Given the description of an element on the screen output the (x, y) to click on. 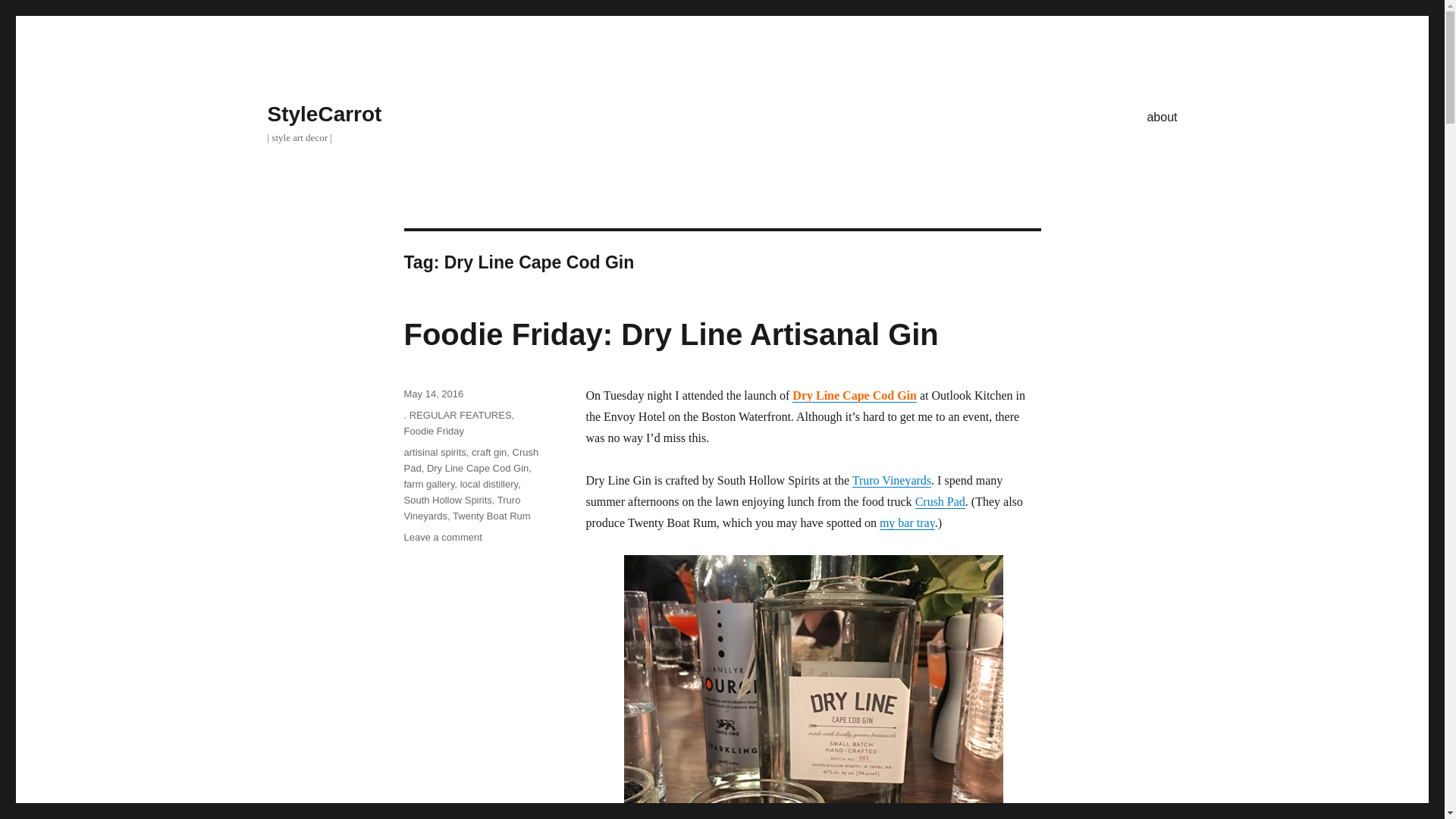
Foodie Friday (433, 430)
artisinal spirits (434, 451)
local distillery (489, 483)
South Hollow Spirits (447, 500)
Dry Line Cape Cod Gin (477, 468)
about (1161, 116)
. REGULAR FEATURES (457, 414)
May 14, 2016 (433, 393)
farm gallery (428, 483)
Dry Line Cape Cod Gin (854, 395)
